Given the description of an element on the screen output the (x, y) to click on. 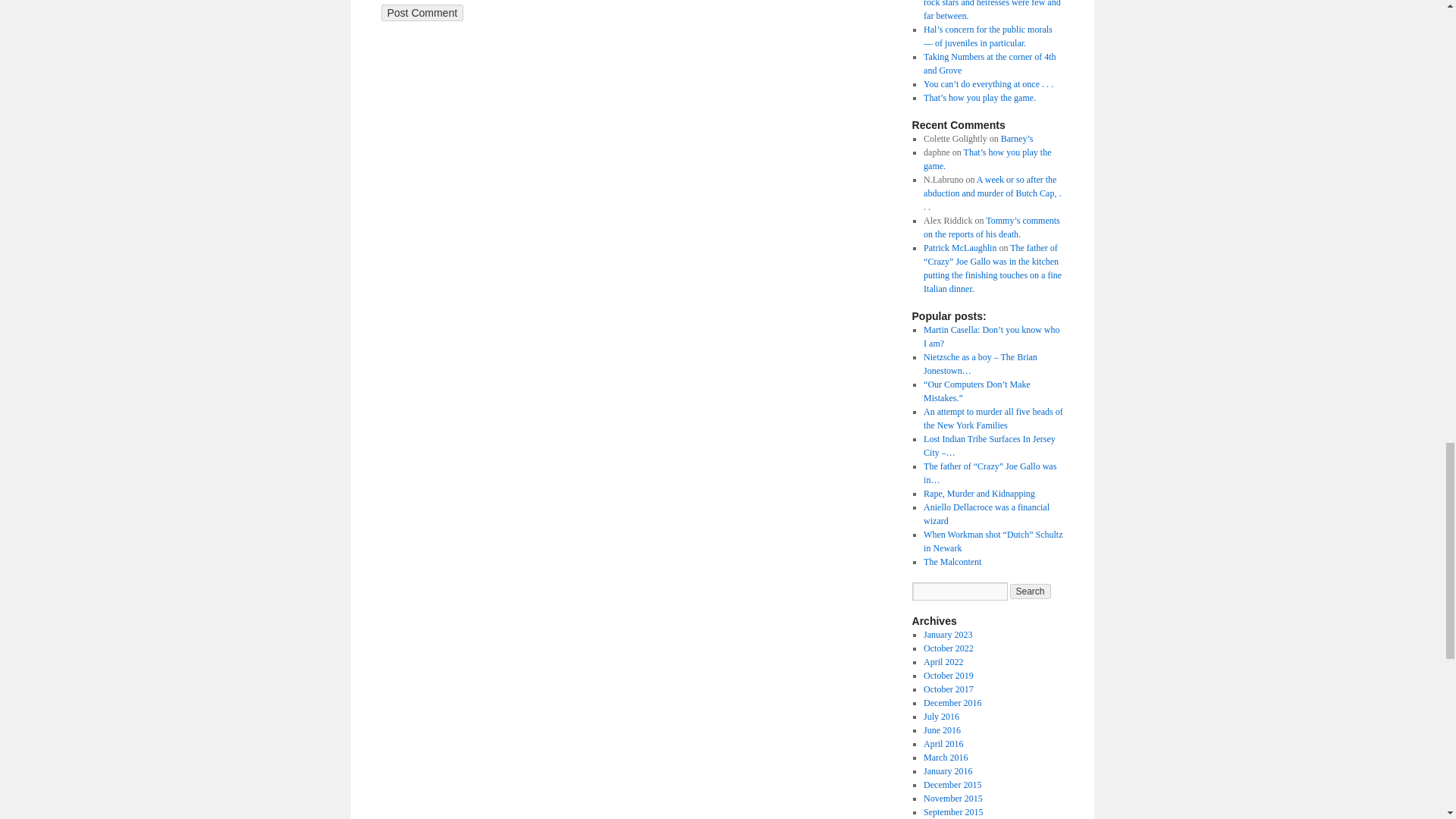
Post Comment (421, 12)
Post Comment (421, 12)
Search (1030, 590)
